Given the description of an element on the screen output the (x, y) to click on. 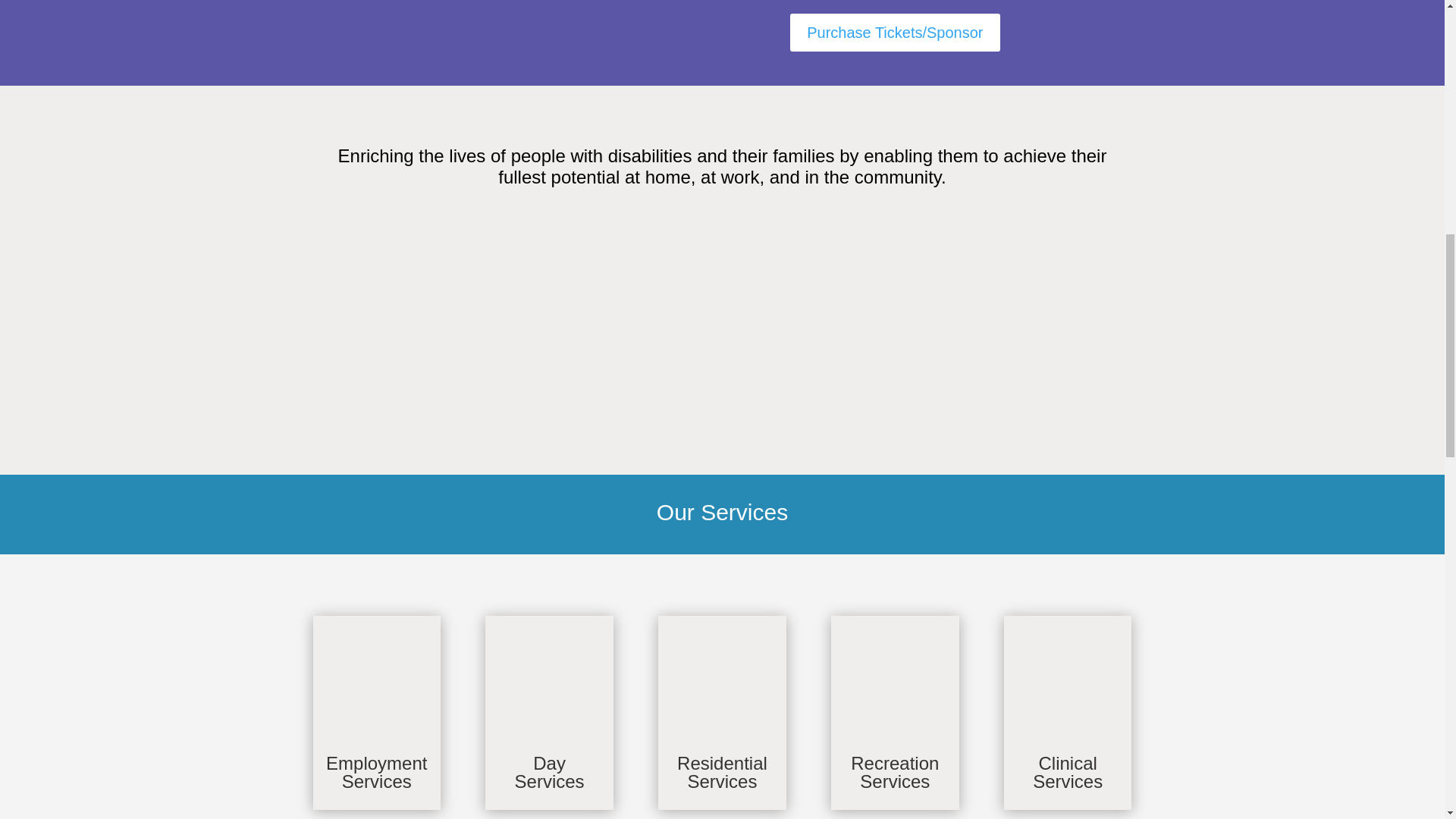
YouTube video player (721, 317)
FallBallLogo (462, 32)
